Given the description of an element on the screen output the (x, y) to click on. 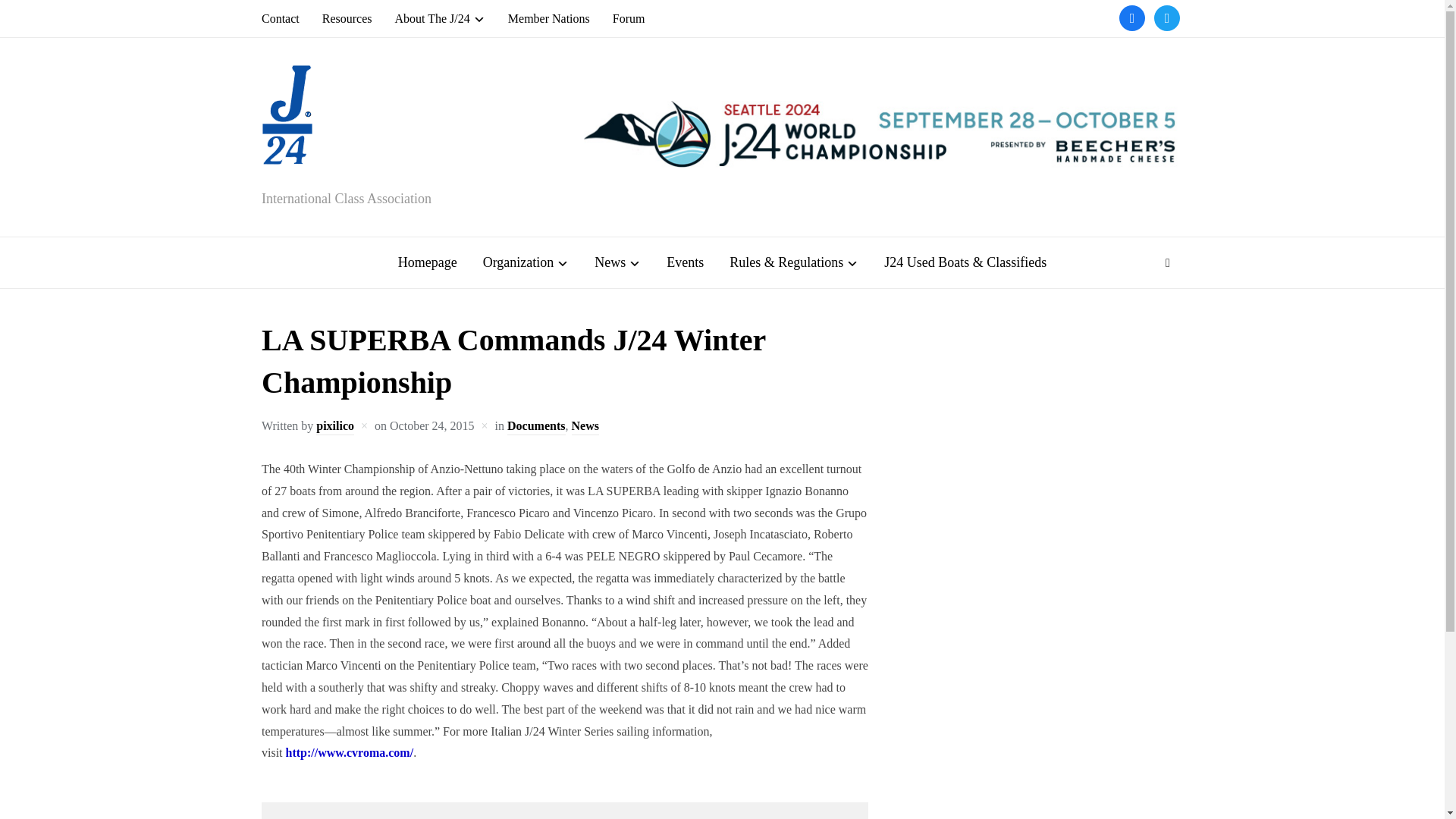
Resources (346, 18)
Twitter (1166, 16)
facebook (1131, 16)
Posts by pixilico (334, 426)
Forum (628, 18)
Contact (280, 18)
twitter (1166, 16)
Search (1167, 263)
Facebook (1131, 16)
Member Nations (548, 18)
